Given the description of an element on the screen output the (x, y) to click on. 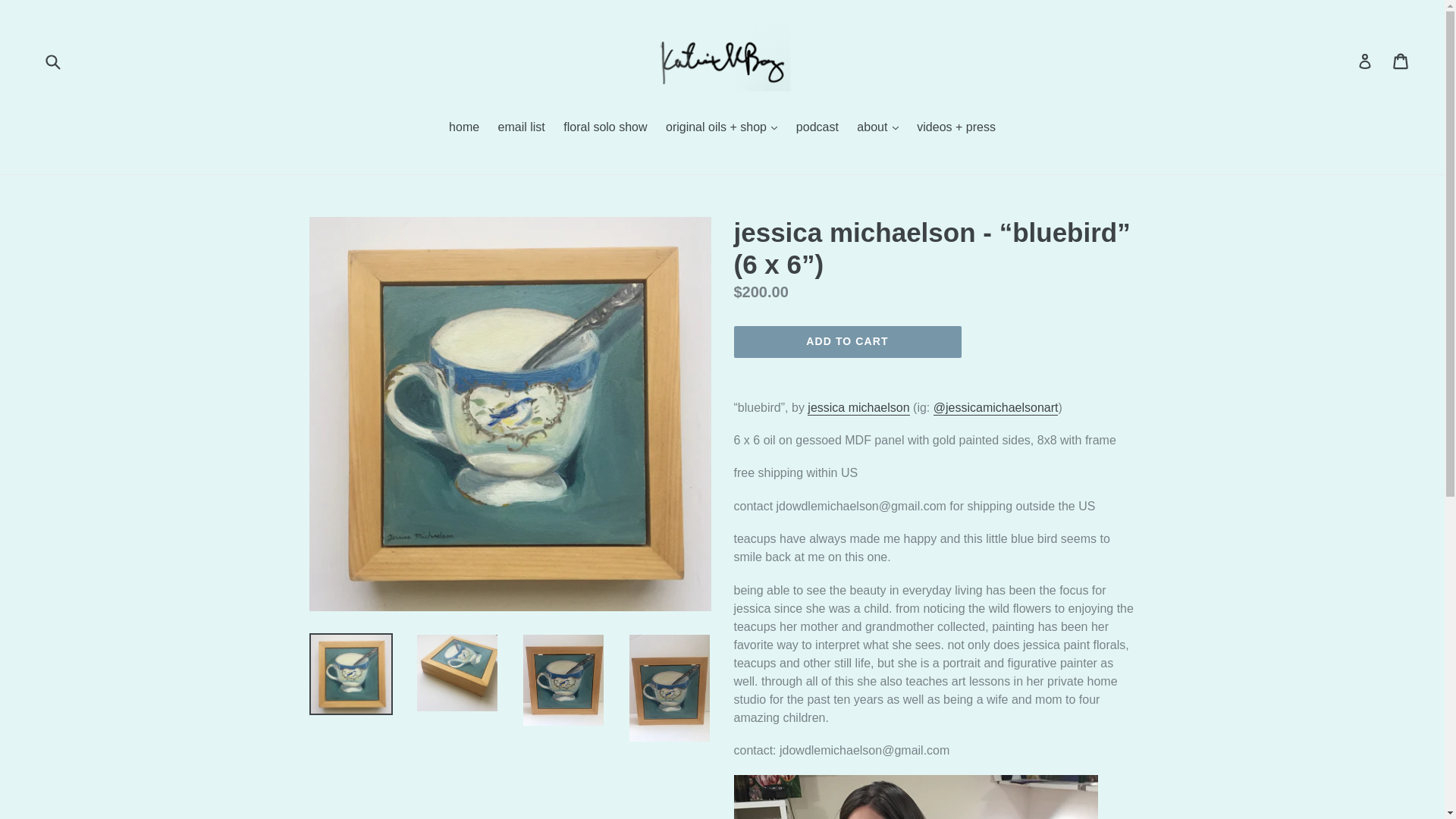
mother artist jessica michaelson utah (858, 408)
